Given the description of an element on the screen output the (x, y) to click on. 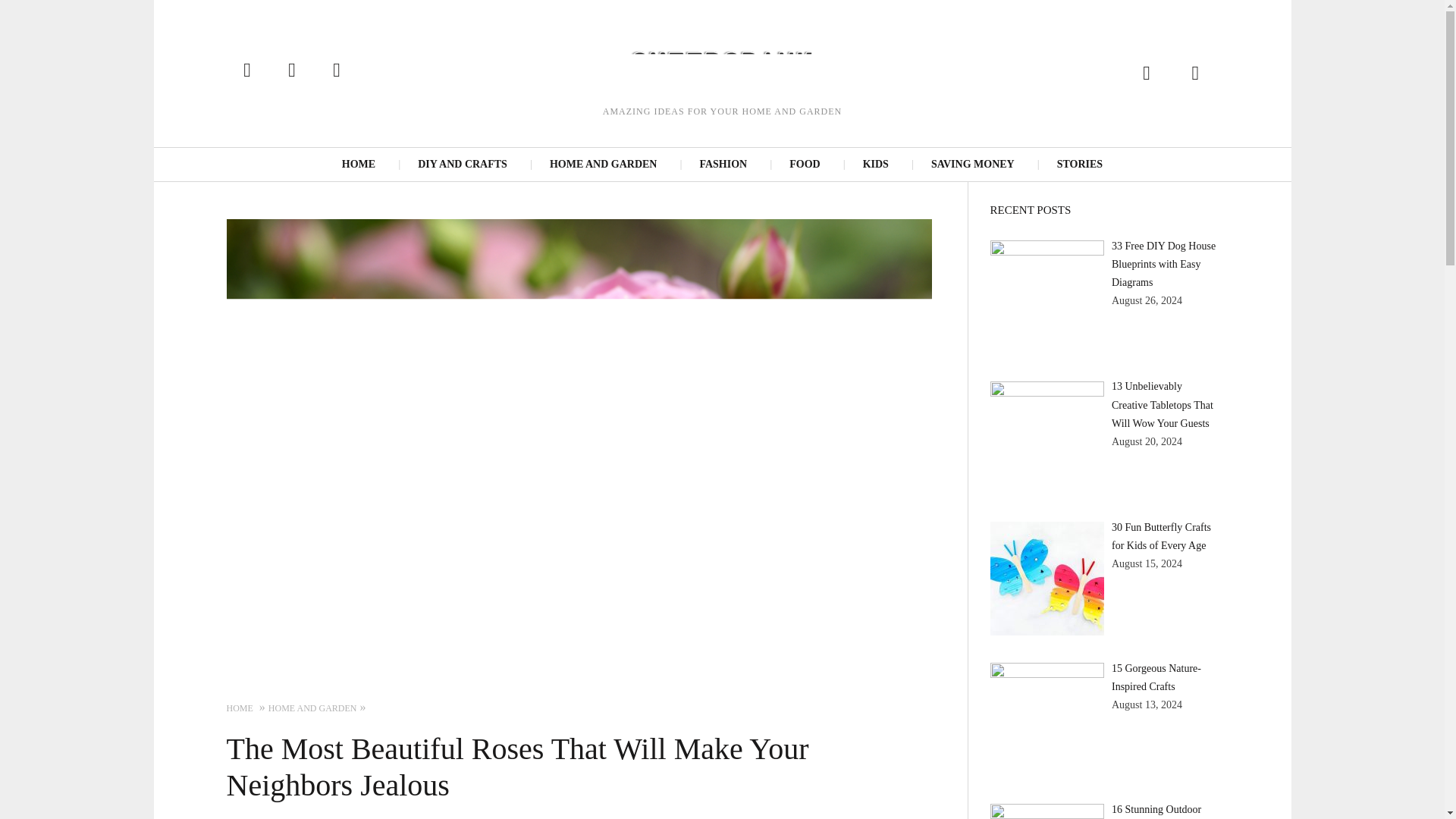
30 Fun Butterfly Crafts for Kids of Every Age (1161, 536)
CheerCrank (721, 63)
View all posts filed under Home and Garden (311, 708)
HOME AND GARDEN (603, 164)
16 Stunning Outdoor Mantel Decor Ideas (1156, 811)
HOME (358, 164)
HOME AND GARDEN (311, 708)
STORIES (1079, 164)
FOOD (803, 164)
SAVING MONEY (973, 164)
